Given the description of an element on the screen output the (x, y) to click on. 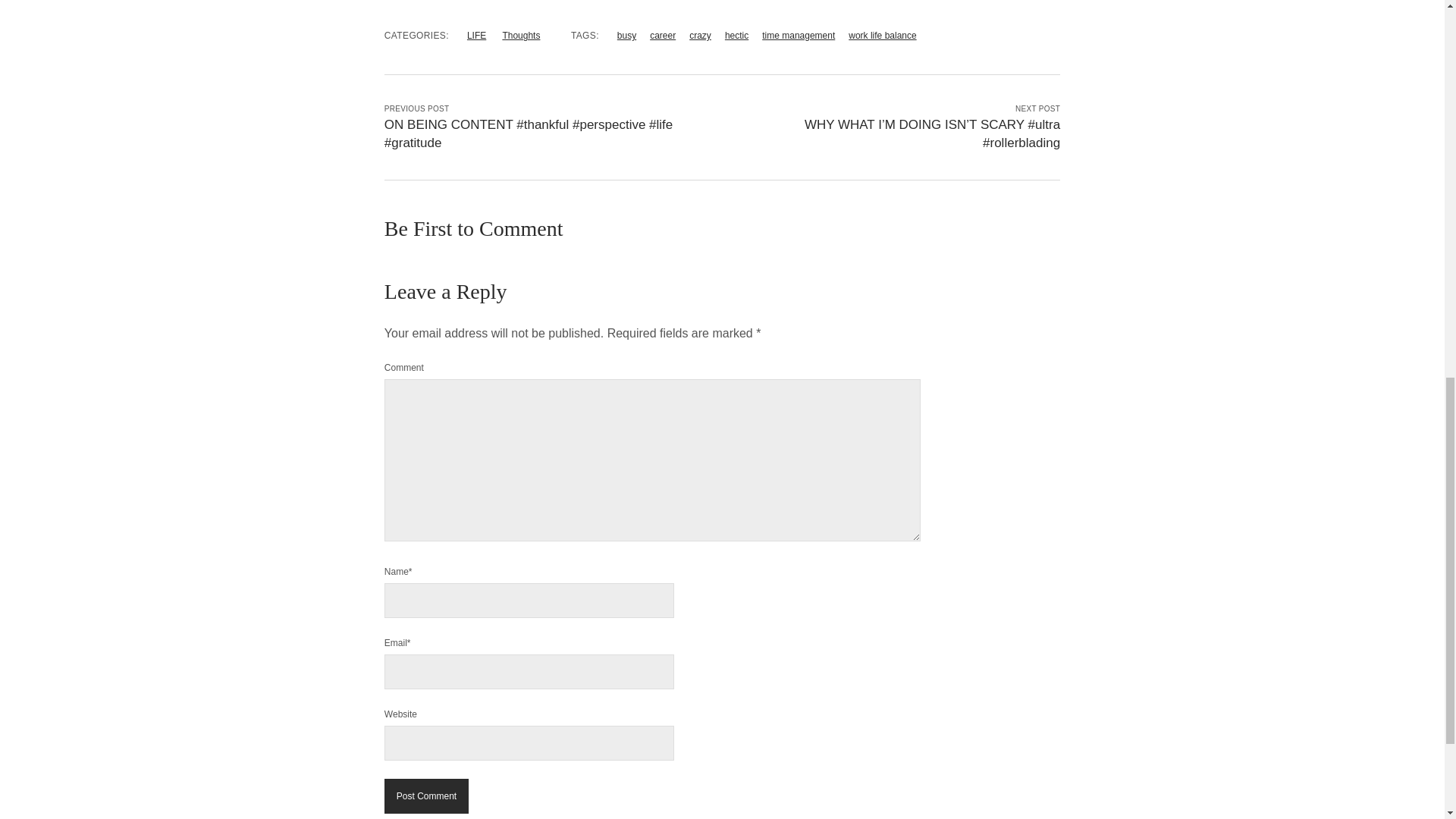
View all posts tagged time management (797, 35)
hectic (736, 35)
LIFE (476, 35)
crazy (699, 35)
View all posts in LIFE (476, 35)
View all posts tagged hectic (736, 35)
View all posts tagged work life balance (881, 35)
career (662, 35)
Thoughts (521, 35)
busy (626, 35)
View all posts tagged crazy (699, 35)
time management (797, 35)
work life balance (881, 35)
View all posts tagged busy (626, 35)
View all posts in Thoughts (521, 35)
